Given the description of an element on the screen output the (x, y) to click on. 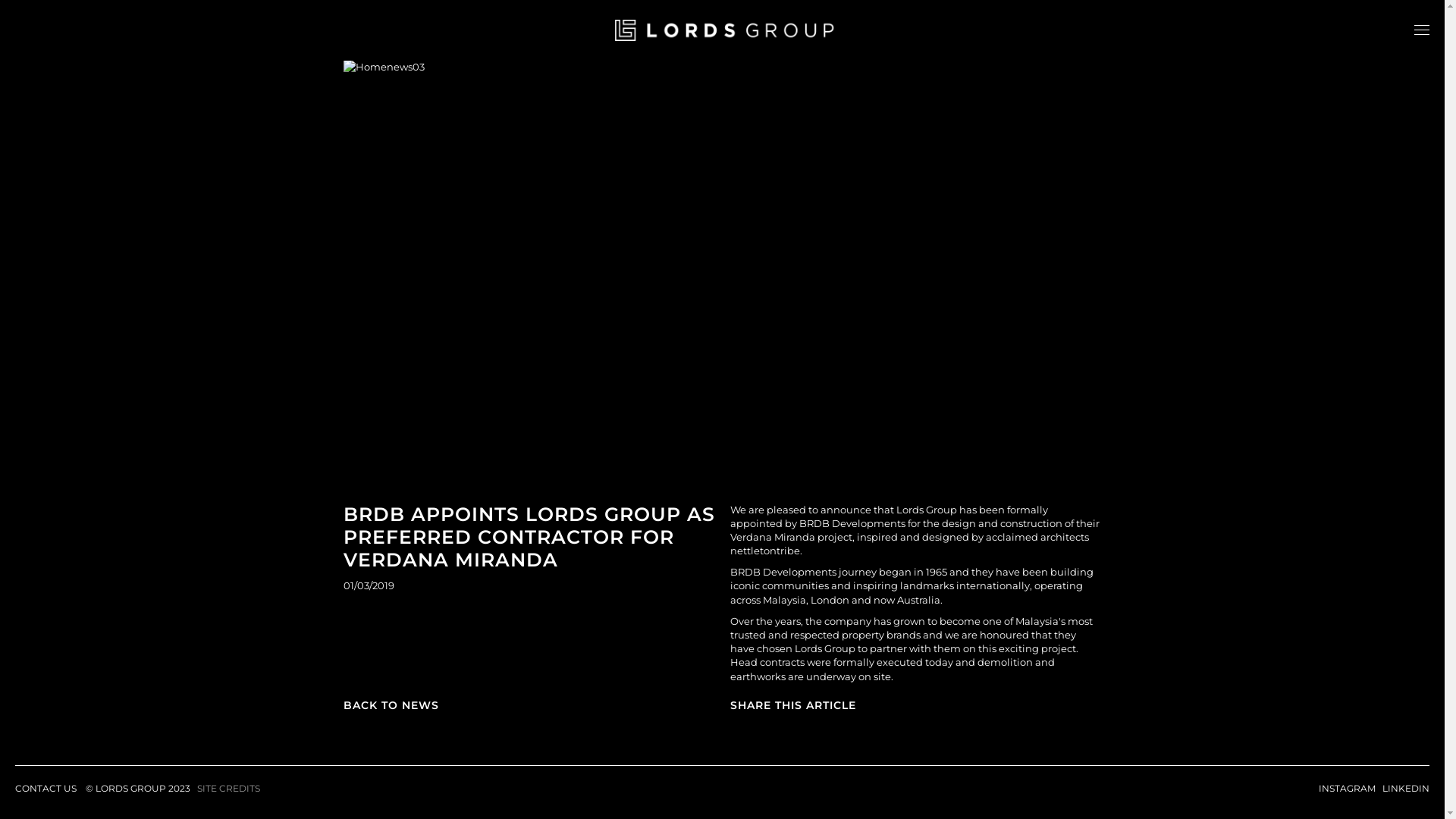
BACK TO NEWS Element type: text (390, 705)
LINKEDIN Element type: text (1405, 787)
Lords Group Element type: text (824, 648)
BRDB Developments Element type: text (782, 571)
INSTAGRAM Element type: text (1346, 787)
CONTACT US Element type: text (45, 787)
nettletontribe Element type: text (764, 550)
BRDB Developments Element type: text (852, 523)
SITE CREDITS Element type: text (228, 788)
Lords Group Element type: text (926, 509)
